Given the description of an element on the screen output the (x, y) to click on. 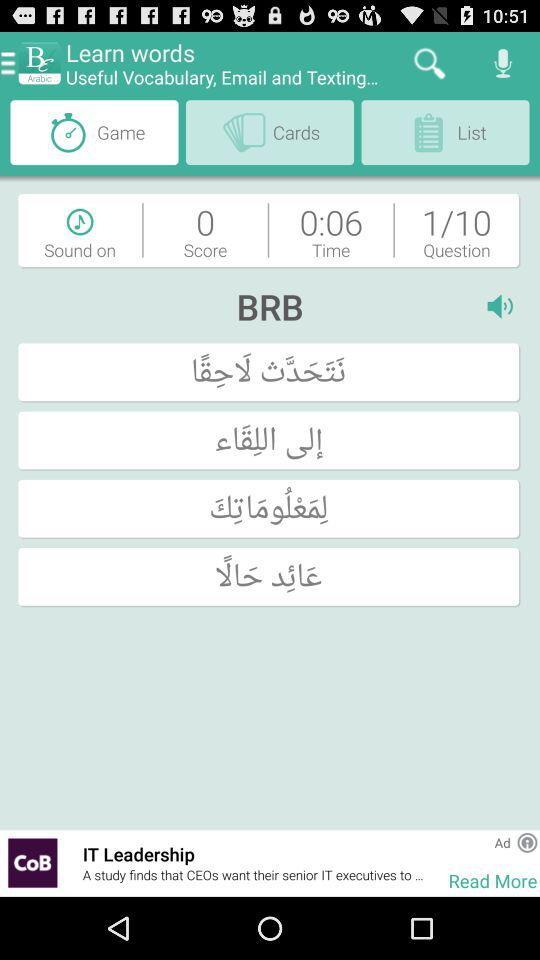
jump until i icon (504, 305)
